Given the description of an element on the screen output the (x, y) to click on. 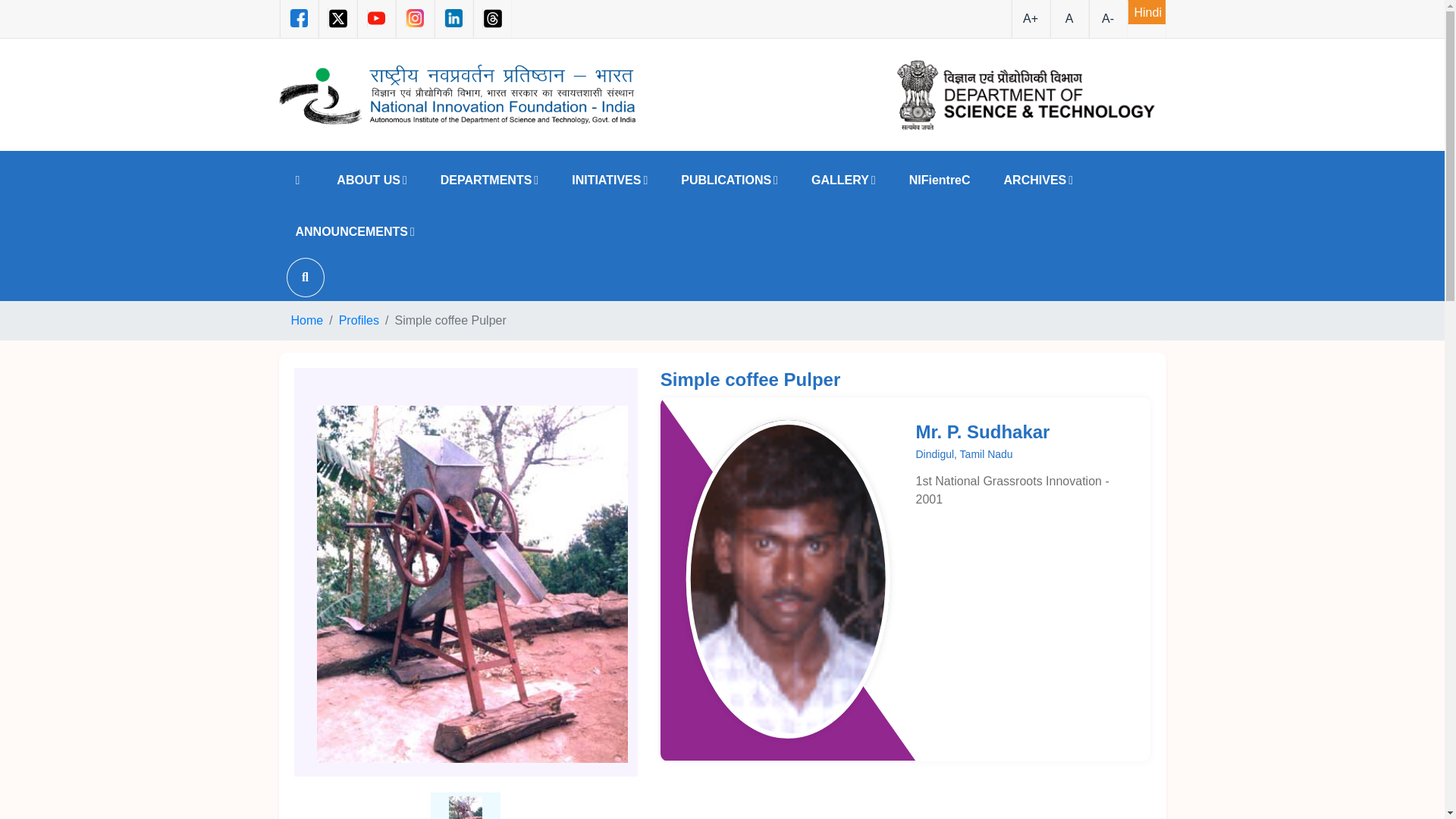
Hindi (1145, 12)
A (1068, 18)
DEPARTMENTS (488, 180)
INITIATIVES (608, 180)
A- (1107, 18)
ABOUT US (371, 180)
